Given the description of an element on the screen output the (x, y) to click on. 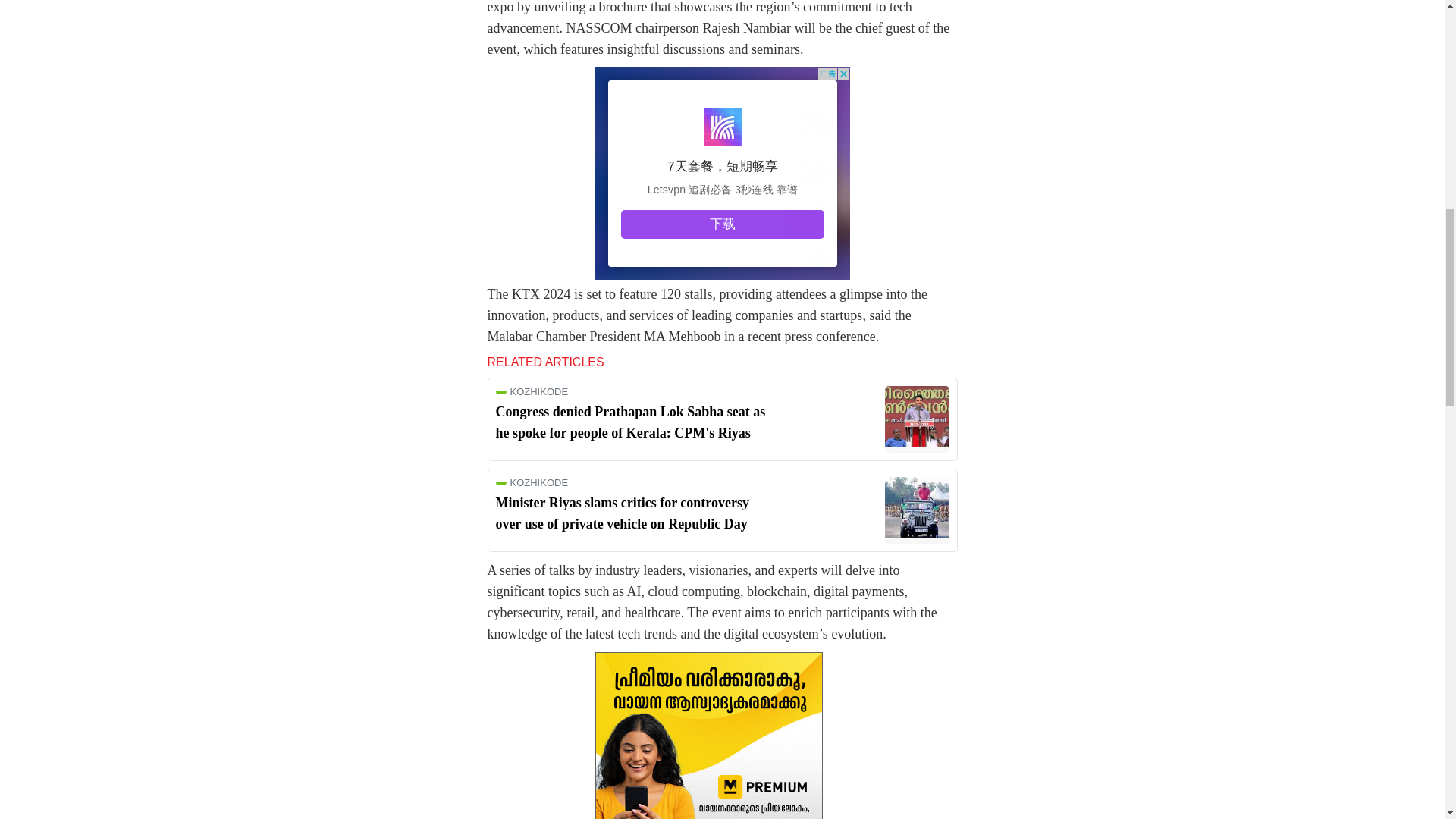
Advertisement (721, 735)
Advertisement (721, 173)
KOZHIKODE (633, 391)
KOZHIKODE (633, 482)
